Given the description of an element on the screen output the (x, y) to click on. 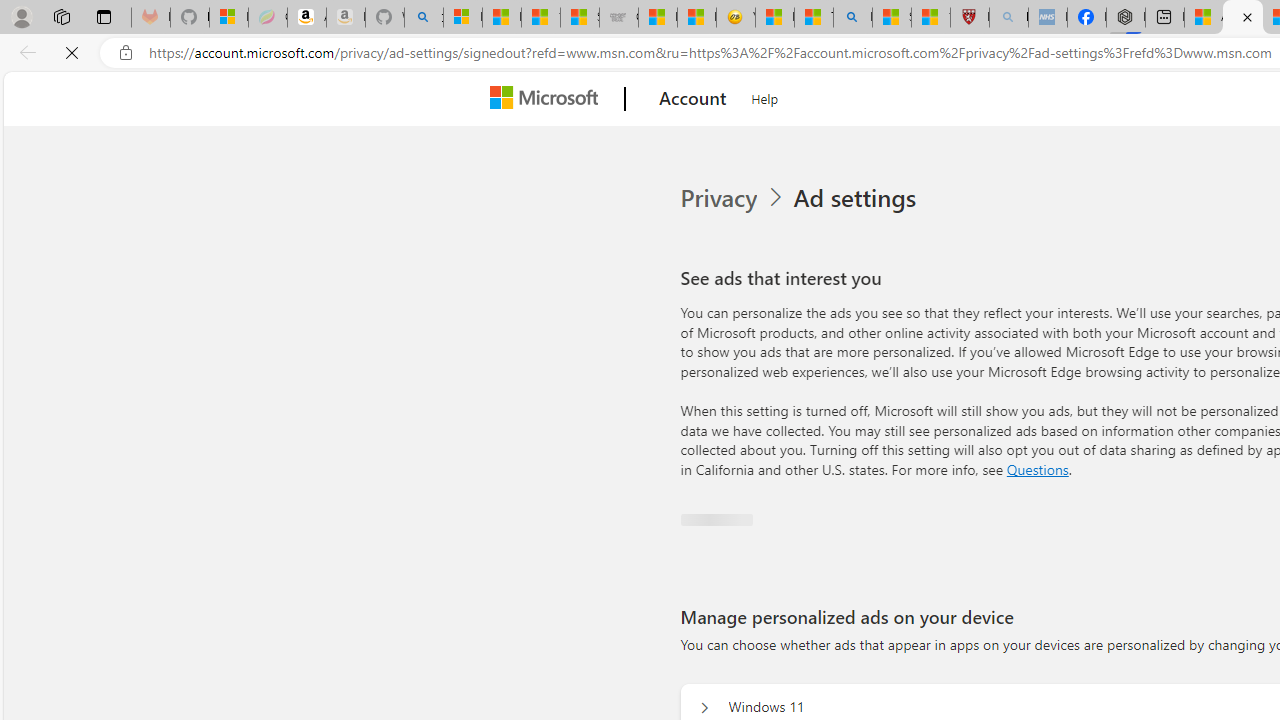
Microsoft (548, 99)
Ad settings (853, 197)
Robert H. Shmerling, MD - Harvard Health (970, 17)
